Given the description of an element on the screen output the (x, y) to click on. 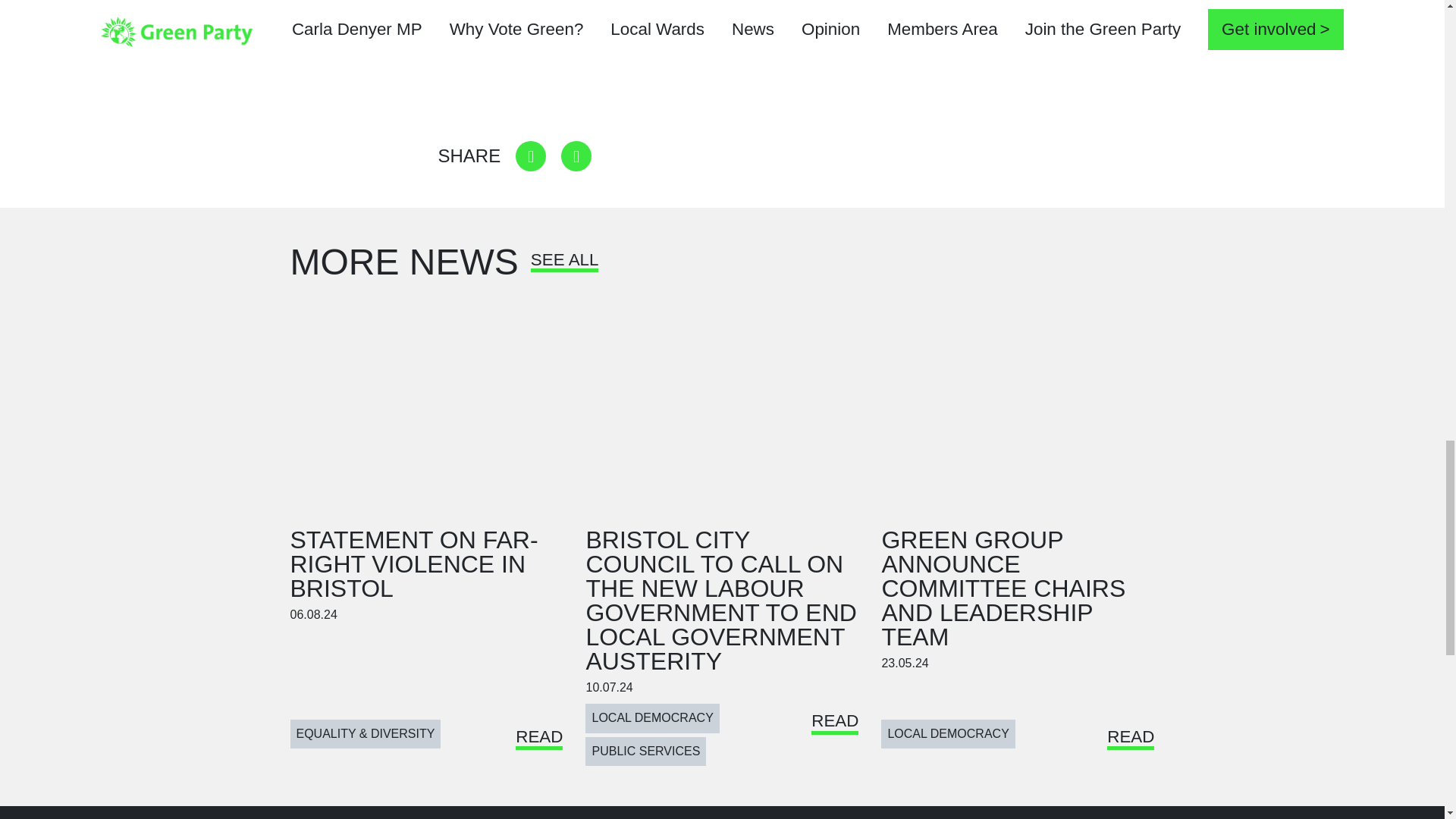
SEE ALL (564, 265)
LOCAL DEMOCRACY (652, 717)
PUBLIC SERVICES (645, 751)
LOCAL DEMOCRACY (947, 733)
